Given the description of an element on the screen output the (x, y) to click on. 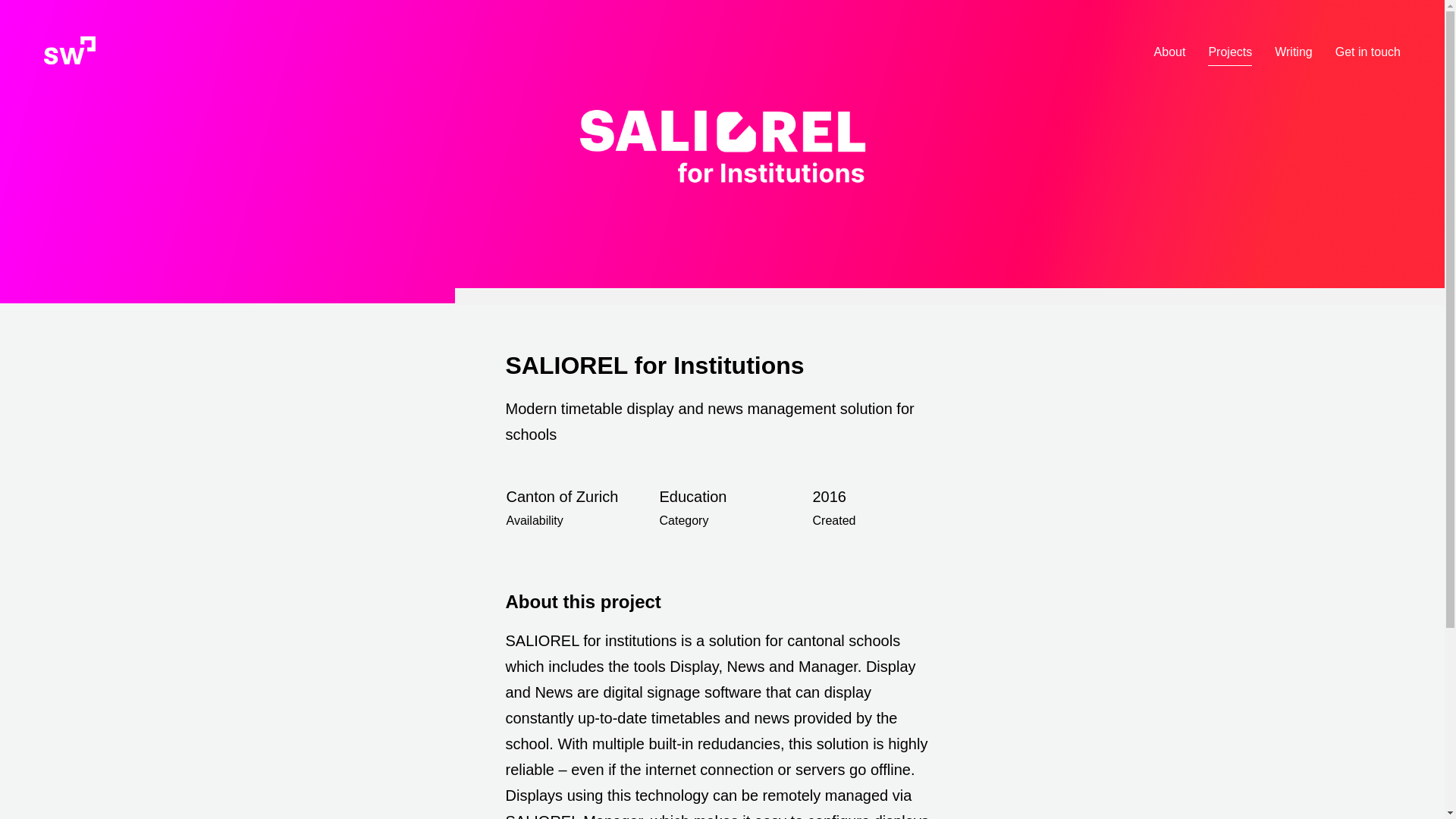
About (1170, 52)
Projects (1230, 52)
Get in touch (1367, 52)
Writing (1294, 52)
